Given the description of an element on the screen output the (x, y) to click on. 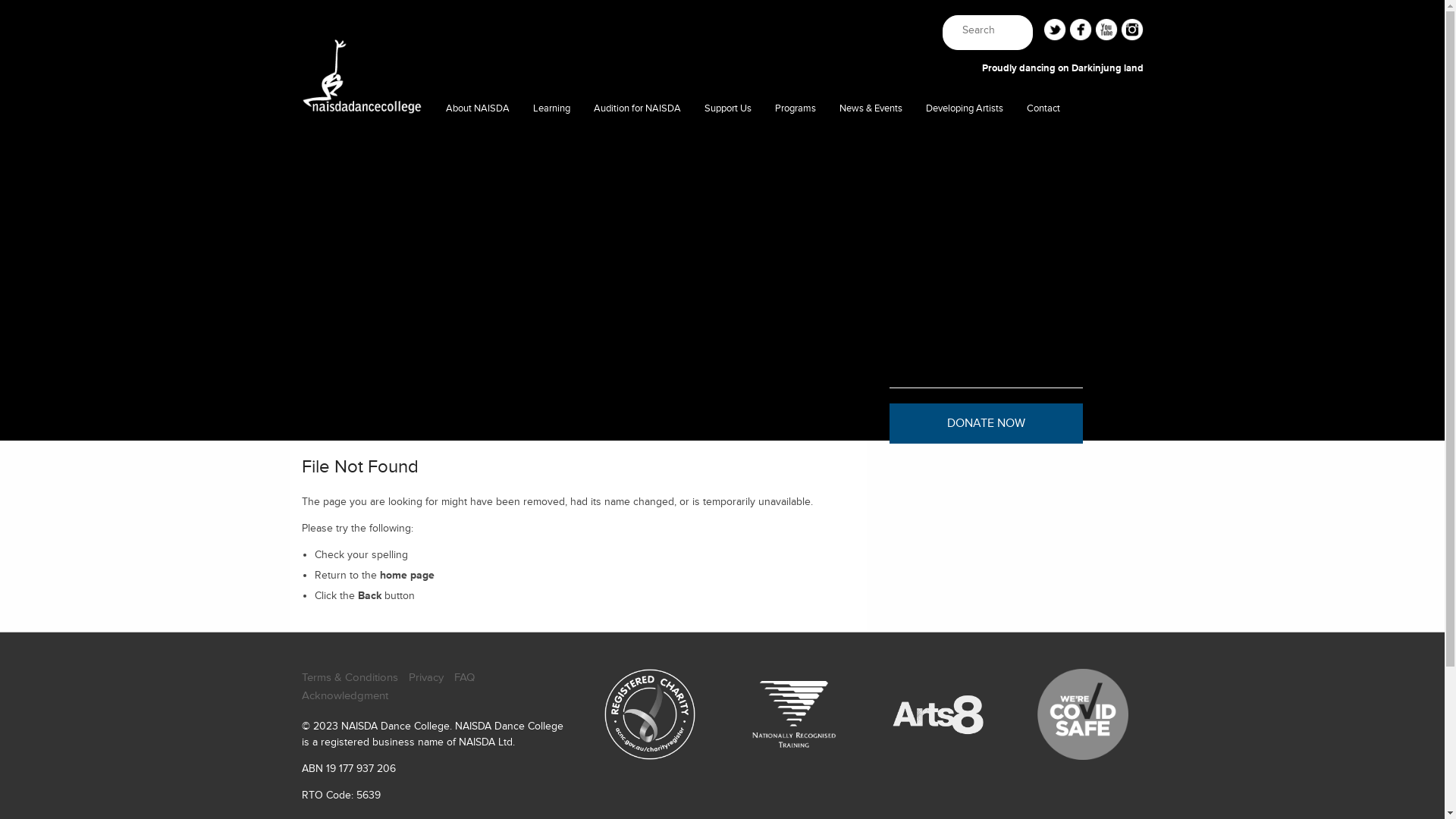
Subscribe to our Auditions Mailing List Element type: text (637, 262)
Terms & Conditions Element type: text (349, 677)
youtube Element type: text (1106, 29)
NAISDA Foundation Trust Element type: text (727, 353)
Learning Element type: text (551, 108)
Apply to NAISDA Element type: text (637, 140)
Developing Artists Element type: text (964, 108)
Twitter Element type: text (1054, 29)
home page Element type: text (406, 574)
Our Supporters Element type: text (727, 292)
Scholarships Element type: text (551, 262)
Songlines Appeal Element type: text (727, 201)
Instagram Element type: text (1131, 29)
Term Dates Element type: text (870, 231)
Training At NAISDA Element type: text (551, 140)
NAISDA Dance College Element type: hover (361, 129)
Facebook Element type: text (1080, 29)
NAISDA People Element type: text (477, 231)
Bequests Element type: text (727, 322)
Contact Element type: text (1043, 108)
Cultural Protocol Element type: text (477, 201)
DONATE NOW Element type: text (985, 423)
Trusts and Foundations Element type: text (727, 231)
Course Information Element type: text (637, 231)
Audition for NAISDA Element type: text (637, 108)
Contact Element type: text (1043, 140)
Employment Element type: text (477, 413)
Expenses and Subsidised Costs Element type: text (551, 171)
Donate Element type: text (727, 171)
ATI Element type: text (870, 140)
Resources Hub Element type: text (637, 201)
About NAISDA Element type: text (477, 108)
FAQ Element type: text (463, 677)
Outreach Programs Element type: text (795, 201)
Alumni Element type: text (964, 171)
Support Us Element type: text (727, 108)
Who We Are Element type: text (477, 140)
History of NAISDA Element type: text (477, 262)
Subscribe to NAISDA Element type: text (1043, 171)
Video Gallery Element type: text (477, 292)
Cultural Residencies Element type: text (795, 171)
Internships Element type: text (551, 292)
Annual Reports Element type: text (477, 322)
Life at NAISDA Element type: text (637, 171)
Programs Element type: text (795, 108)
ARTS8 Training Organisations Element type: text (477, 353)
In the News Element type: text (870, 171)
Privacy Element type: text (424, 677)
Facilities Element type: text (477, 171)
Support Services Element type: text (551, 201)
Vision: The Way Ahead Element type: text (727, 413)
Become a Homestay Family Element type: text (477, 383)
Productions Element type: text (795, 140)
Support NAISDA Element type: text (727, 140)
Graduation Element type: text (551, 231)
Meet Our Developing and Practising Artists Element type: text (964, 140)
Other Ways to Show your Support Element type: text (727, 444)
Back Element type: text (369, 595)
News & Events Element type: text (870, 108)
Corporate Partnerships Element type: text (727, 262)
Acknowledgment Element type: text (344, 696)
